Given the description of an element on the screen output the (x, y) to click on. 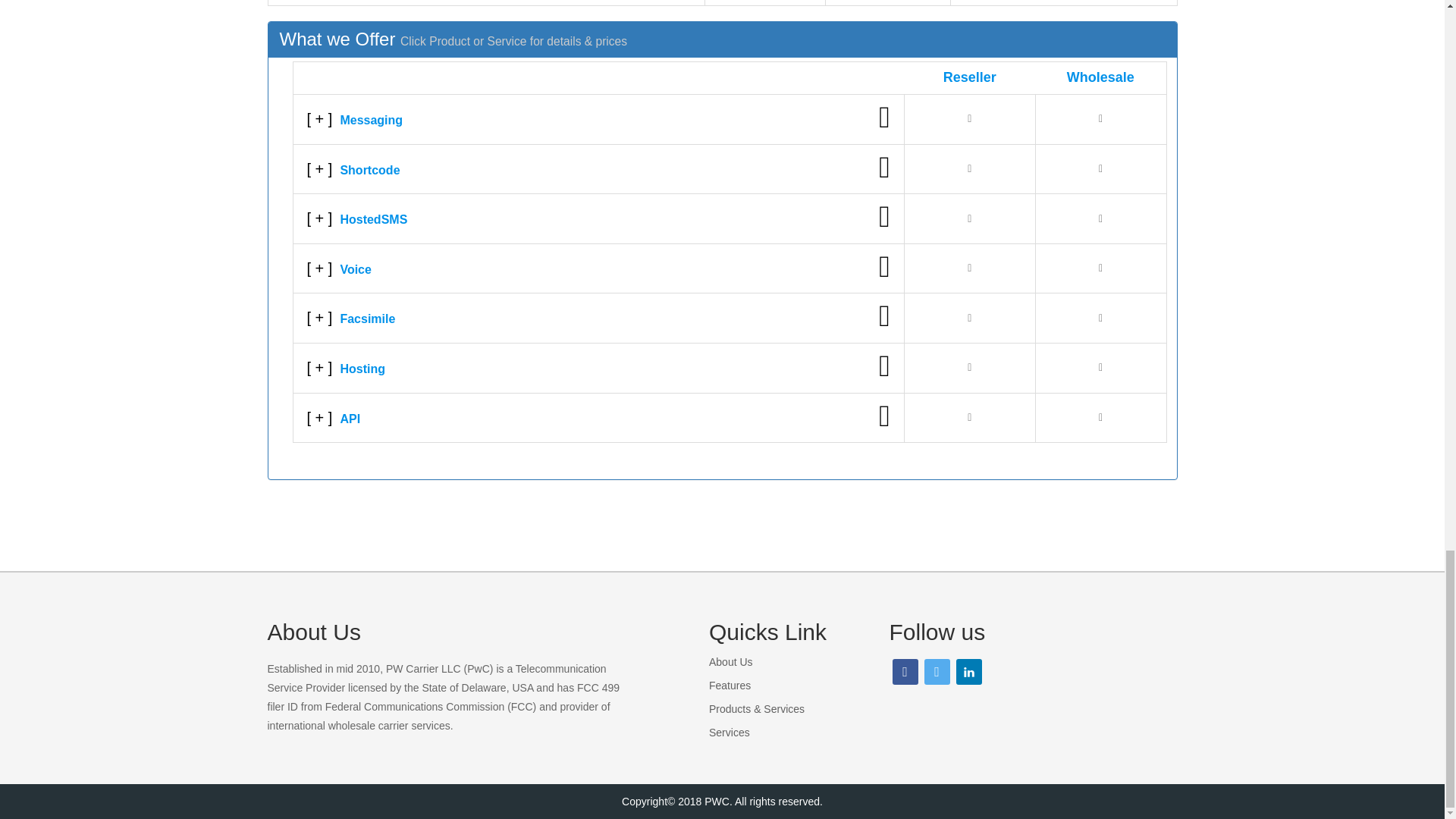
API (597, 417)
PWC (716, 801)
Voice (597, 268)
twitter (936, 671)
facebook (904, 671)
Services (729, 732)
Messaging (597, 119)
linkedin (968, 671)
Shortcode (597, 169)
Hosting (597, 367)
HostedSMS (597, 218)
About Us (730, 662)
Facsimile (597, 317)
Features (730, 685)
